Given the description of an element on the screen output the (x, y) to click on. 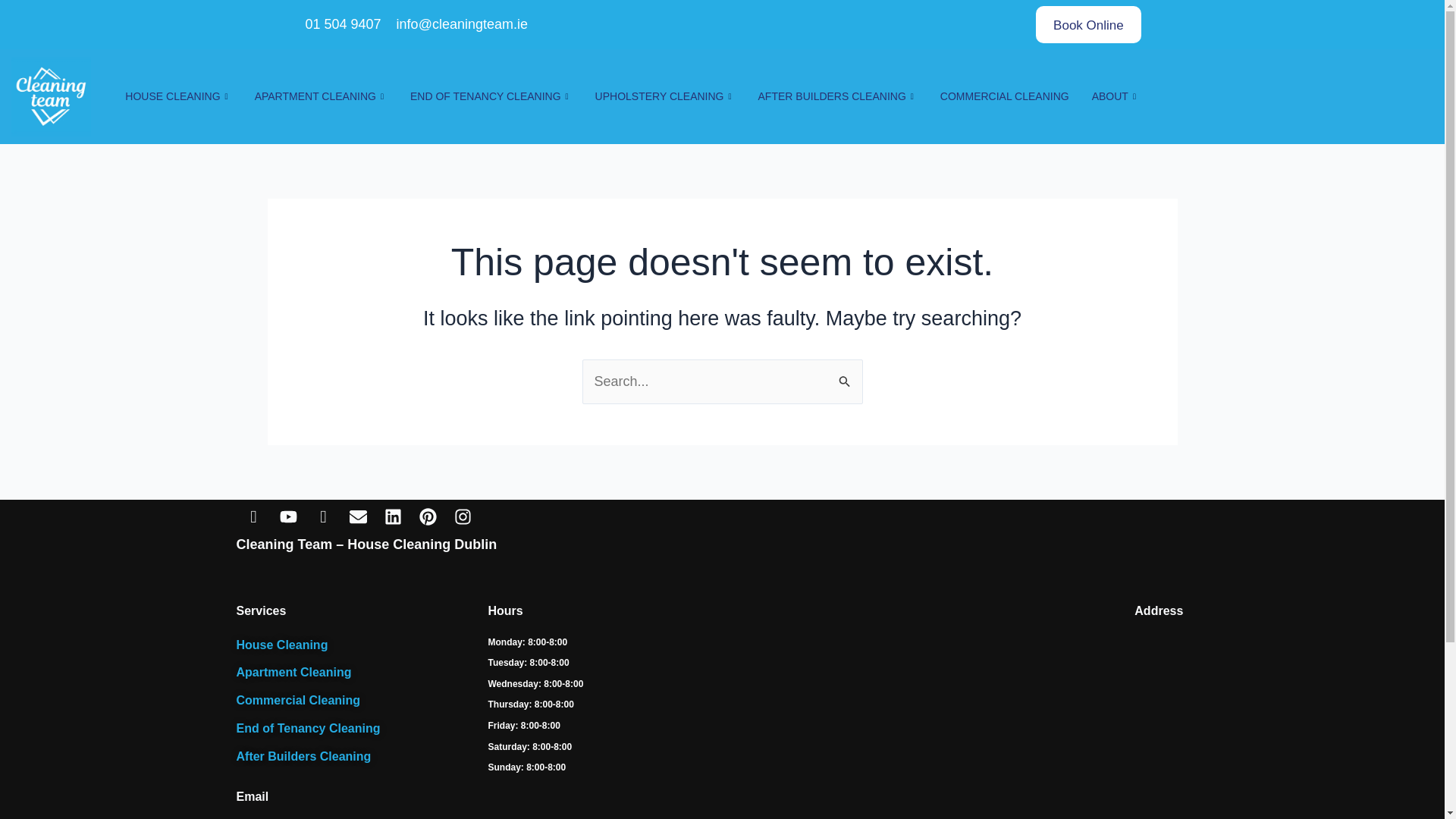
Book Online (1088, 24)
Search (844, 375)
APARTMENT CLEANING (320, 96)
Search (844, 375)
01 504 9407 (341, 24)
HOUSE CLEANING (178, 96)
